Given the description of an element on the screen output the (x, y) to click on. 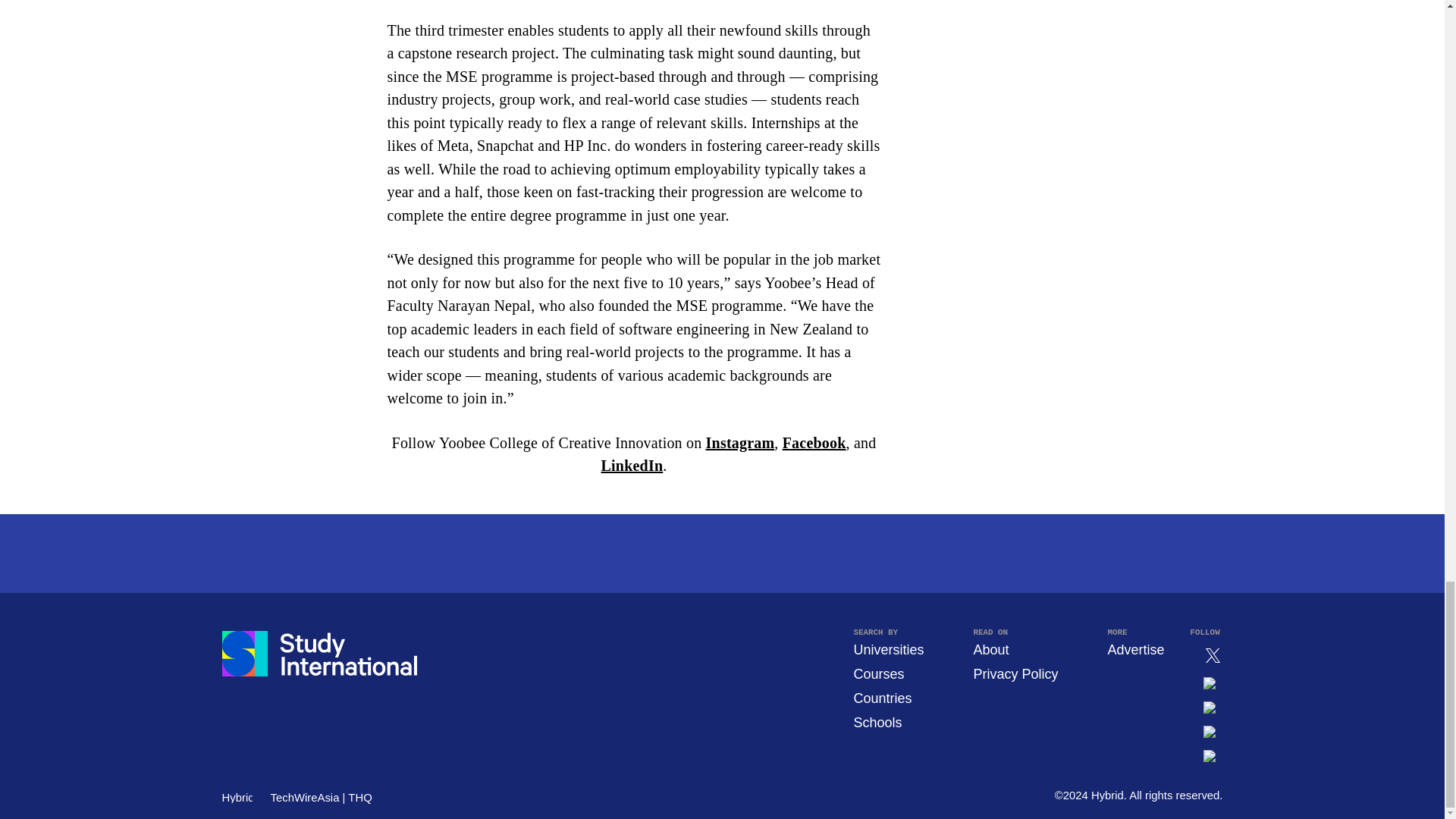
Universities (888, 649)
LinkedIn (632, 465)
Courses (878, 673)
Instagram (740, 442)
Facebook (814, 442)
